Given the description of an element on the screen output the (x, y) to click on. 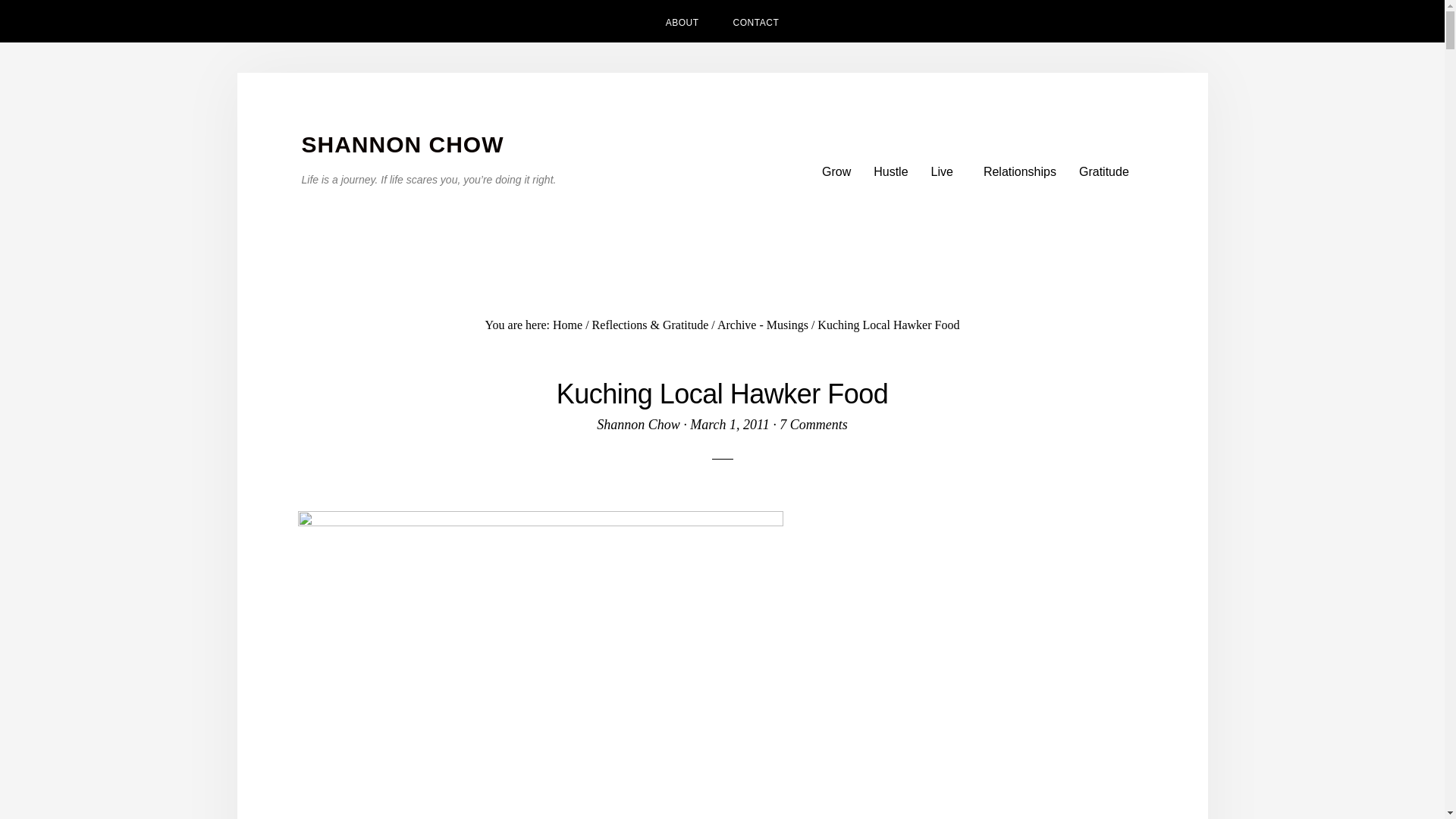
Hustle (889, 171)
7 Comments (812, 424)
Home (567, 324)
Shannon Chow (637, 424)
Grow (835, 171)
Relationships (1019, 171)
Live (946, 171)
Archive - Musings (762, 324)
ABOUT (682, 21)
Gratitude (1103, 171)
CONTACT (755, 21)
